Given the description of an element on the screen output the (x, y) to click on. 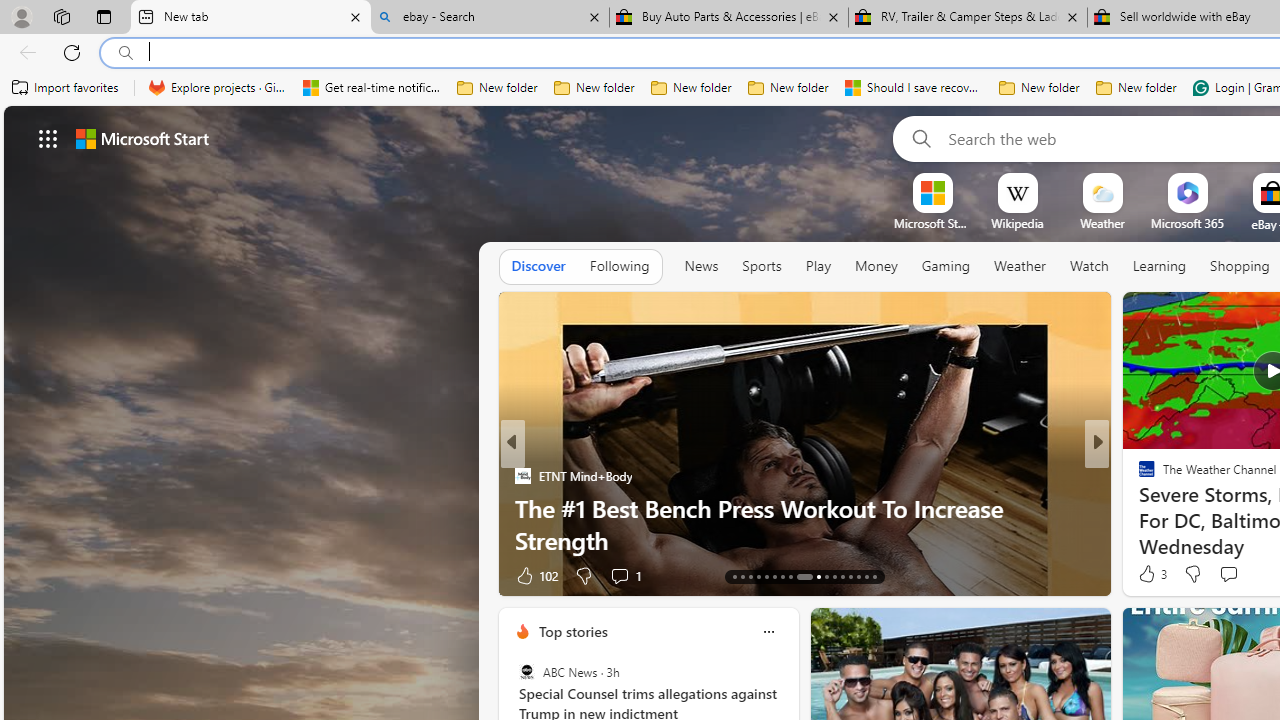
AutomationID: tab-28 (865, 576)
Dailymotion (1138, 507)
Verywell Mind (1138, 507)
AutomationID: tab-17 (765, 576)
NBC News (1138, 475)
Search icon (125, 53)
AutomationID: tab-20 (789, 576)
